Given the description of an element on the screen output the (x, y) to click on. 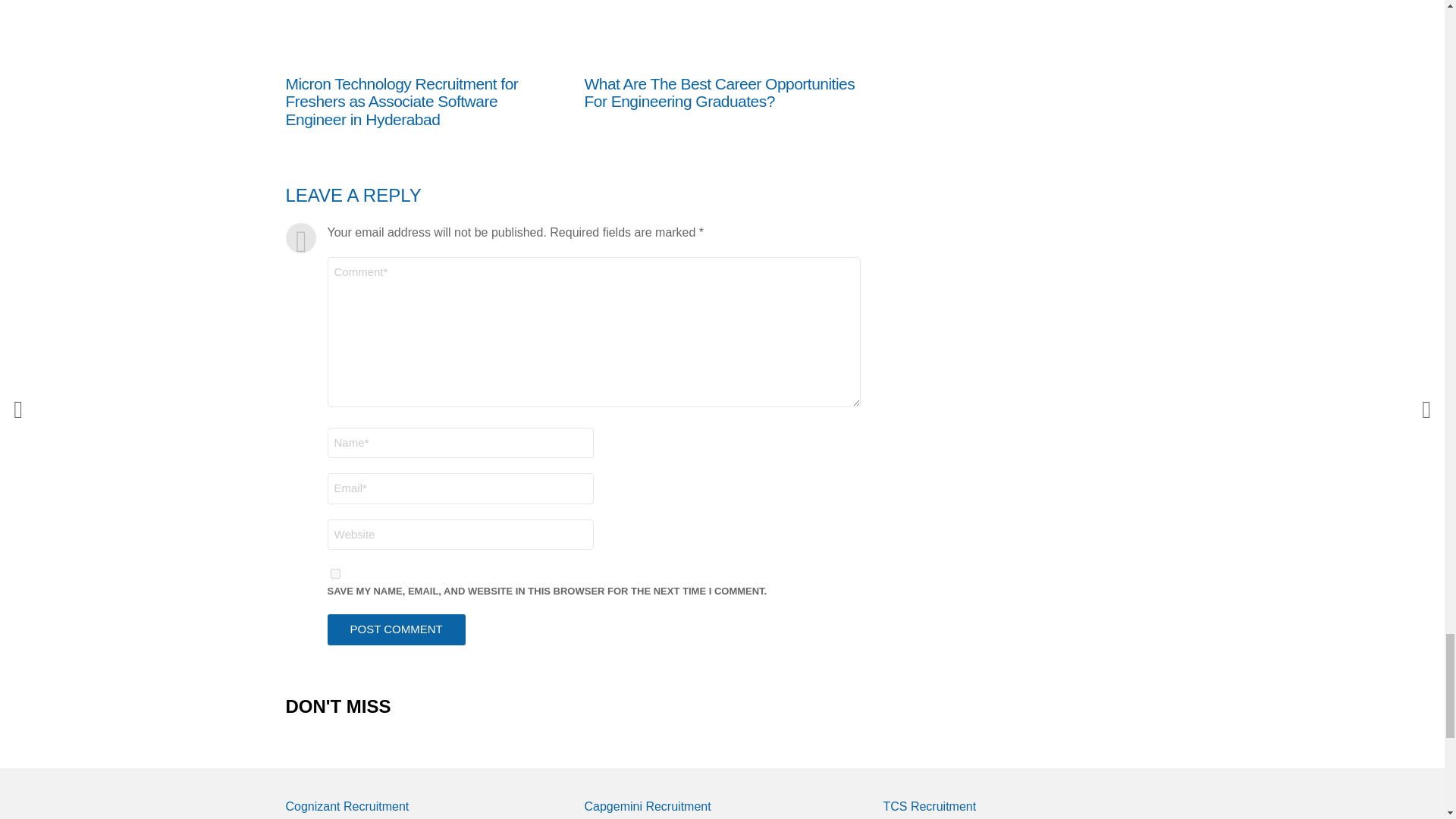
Post Comment (396, 629)
yes (335, 573)
